Given the description of an element on the screen output the (x, y) to click on. 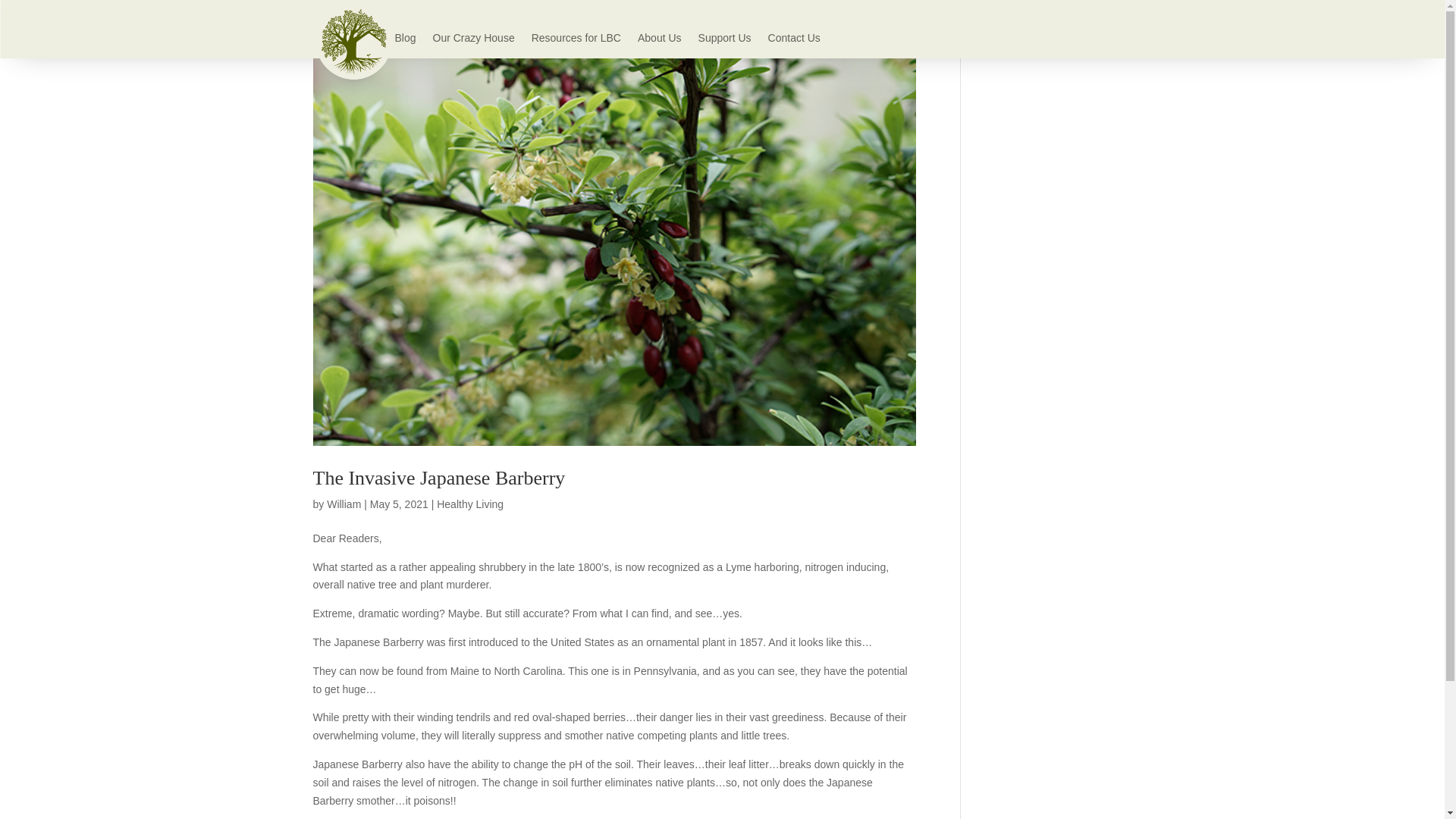
Posts by William (343, 503)
Contact Us (794, 40)
About Us (659, 40)
Blog (404, 40)
Support Us (724, 40)
William (343, 503)
Healthy Living (469, 503)
Resources for LBC (576, 40)
The Invasive Japanese Barberry (438, 477)
Our Crazy House (473, 40)
